Given the description of an element on the screen output the (x, y) to click on. 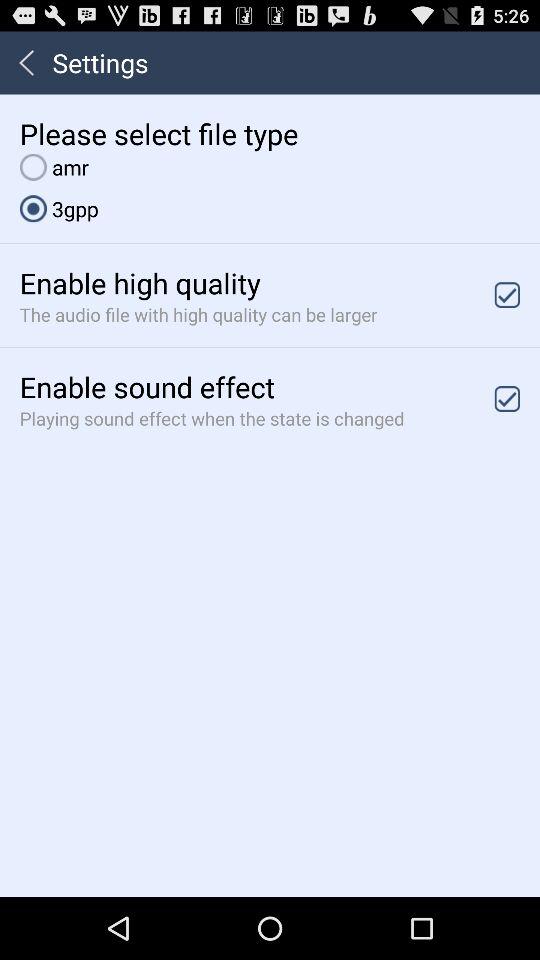
press the icon above the please select file item (26, 62)
